Given the description of an element on the screen output the (x, y) to click on. 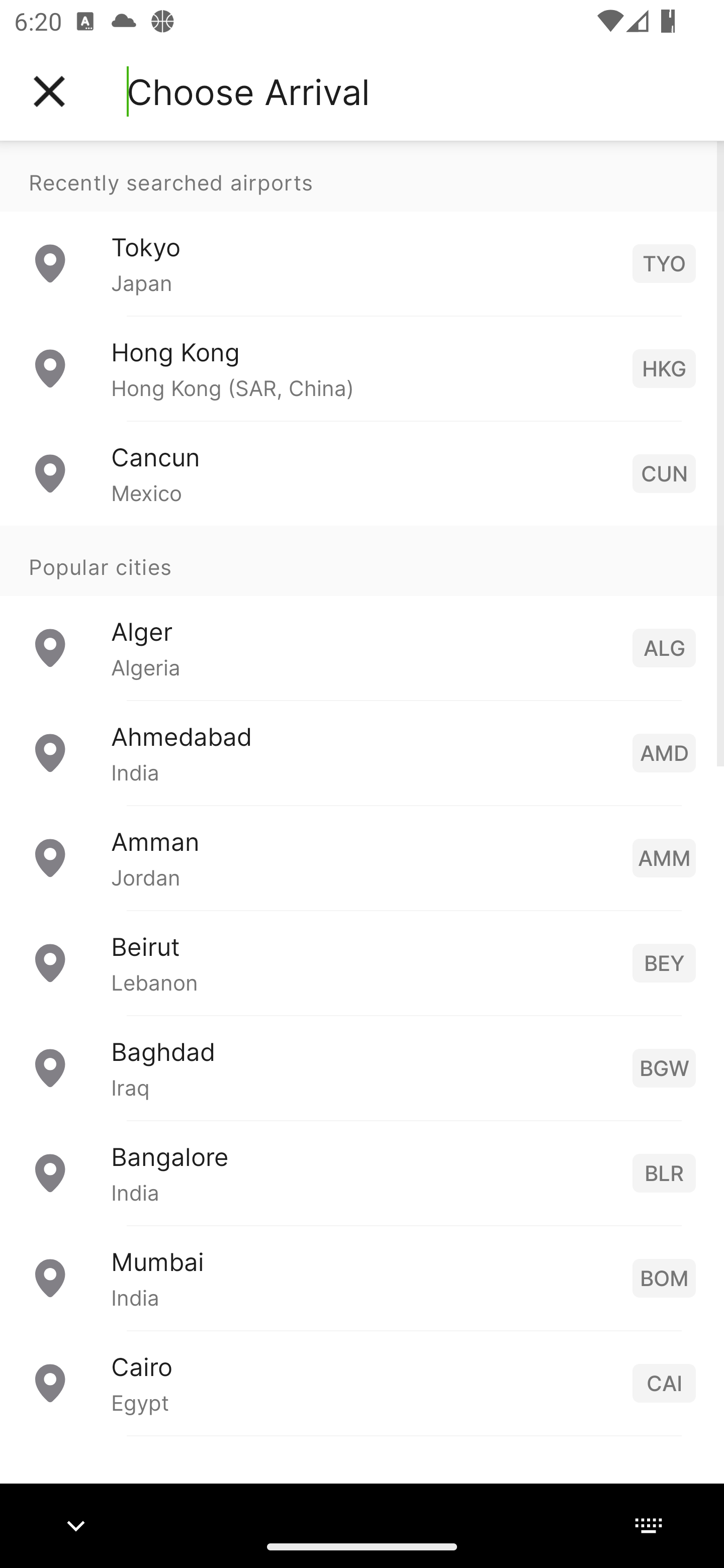
Choose Arrival (247, 91)
Recently searched airports Tokyo Japan TYO (362, 228)
Recently searched airports (362, 176)
Hong Kong Hong Kong (SAR, China) HKG (362, 367)
Cancun Mexico CUN (362, 472)
Popular cities Alger Algeria ALG (362, 612)
Popular cities (362, 560)
Ahmedabad India AMD (362, 751)
Amman Jordan AMM (362, 856)
Beirut Lebanon BEY (362, 961)
Baghdad Iraq BGW (362, 1066)
Bangalore India BLR (362, 1171)
Mumbai India BOM (362, 1276)
Cairo Egypt CAI (362, 1381)
